Given the description of an element on the screen output the (x, y) to click on. 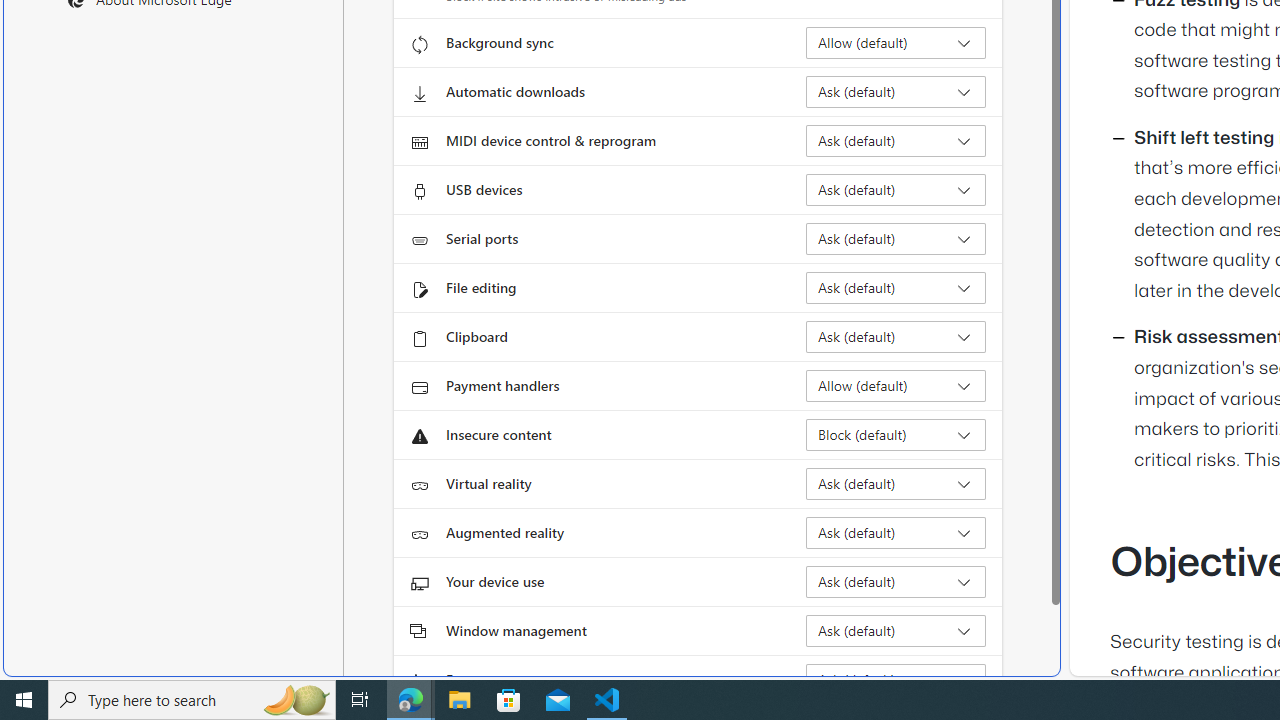
MIDI device control & reprogram Ask (default) (895, 140)
Insecure content Block (default) (895, 434)
Fonts Ask (default) (895, 679)
Serial ports Ask (default) (895, 238)
Clipboard Ask (default) (895, 336)
Window management Ask (default) (895, 630)
Your device use Ask (default) (895, 581)
Augmented reality Ask (default) (895, 532)
USB devices Ask (default) (895, 189)
Automatic downloads Ask (default) (895, 92)
Background sync Allow (default) (895, 43)
Virtual reality Ask (default) (895, 483)
Payment handlers Allow (default) (895, 385)
File editing Ask (default) (895, 287)
